Given the description of an element on the screen output the (x, y) to click on. 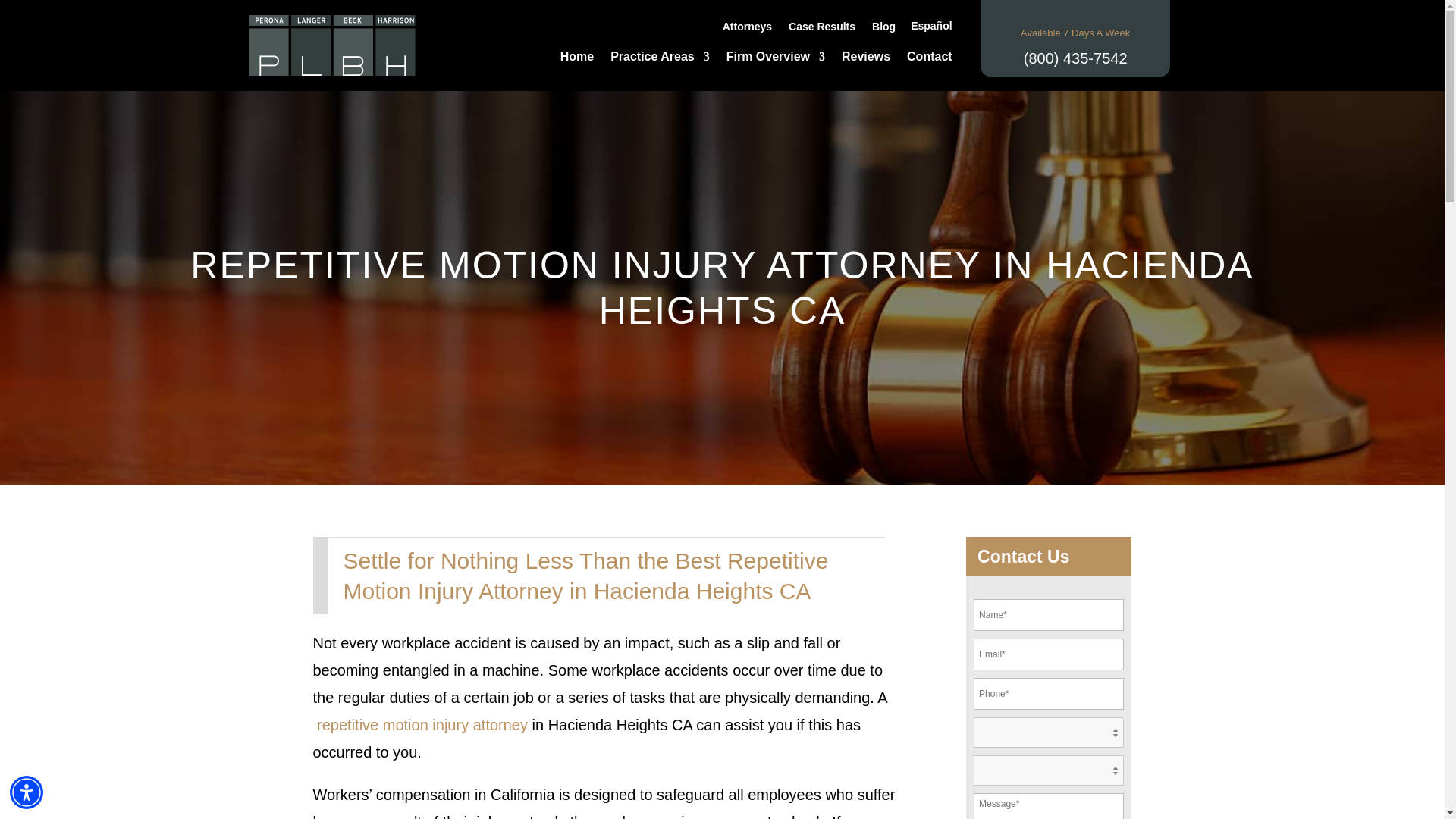
PLBH (331, 45)
Case Results (822, 29)
Home (577, 59)
Accessibility Menu (26, 792)
Reviews (865, 59)
Attorneys (746, 29)
Firm Overview (775, 59)
Contact (929, 59)
Blog (883, 29)
Practice Areas (660, 59)
